Given the description of an element on the screen output the (x, y) to click on. 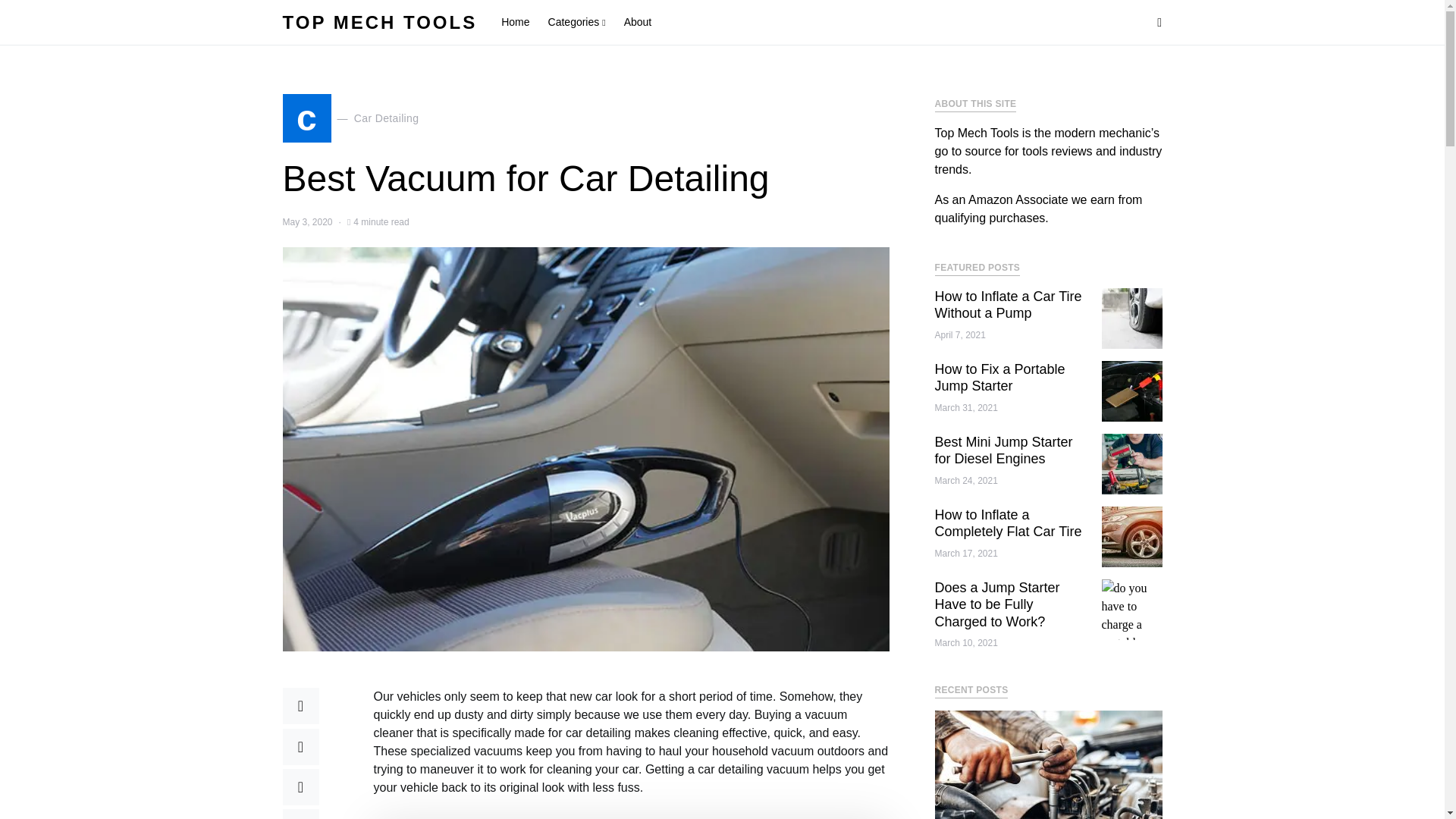
Categories (576, 22)
TOP MECH TOOLS (350, 118)
